Given the description of an element on the screen output the (x, y) to click on. 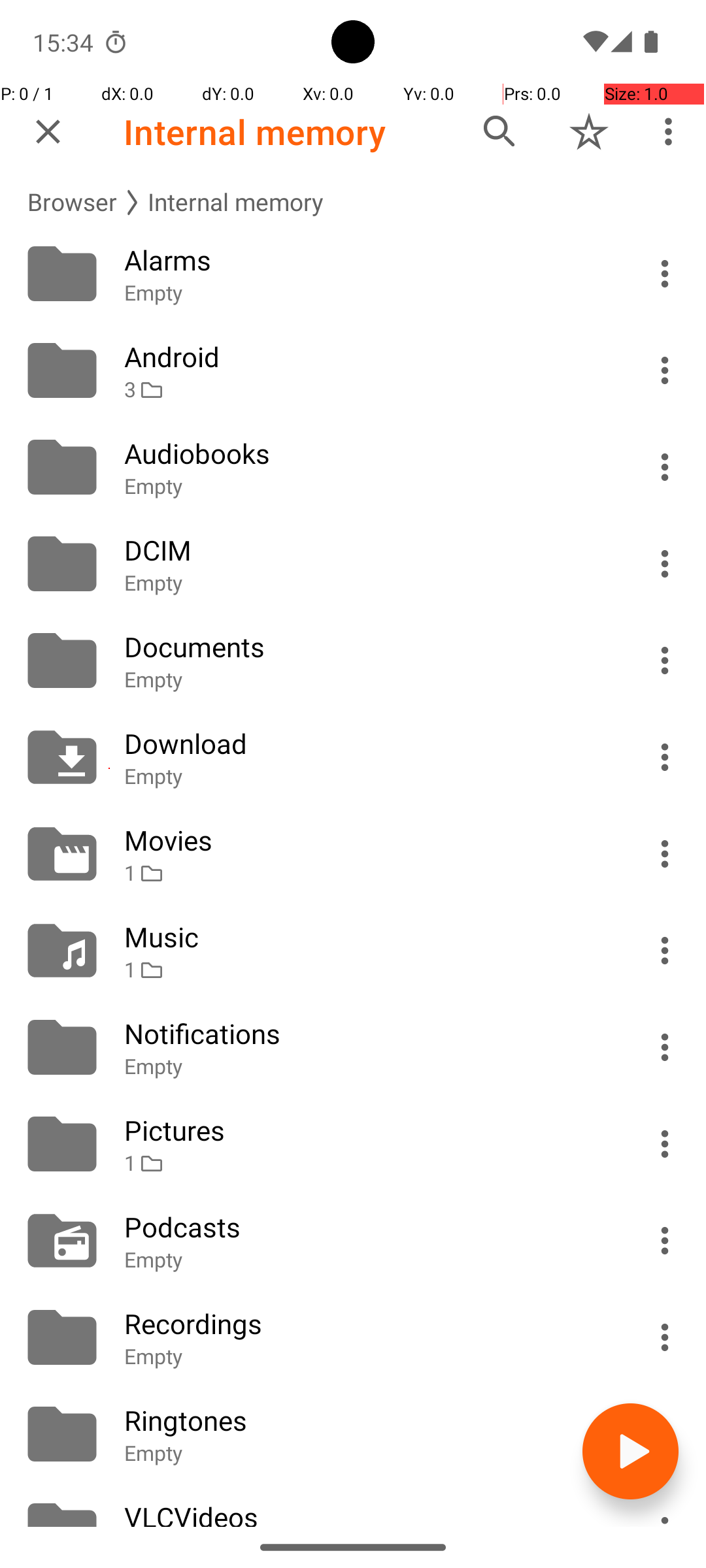
Folder: Alarms, Empty Element type: android.view.ViewGroup (353, 273)
Folder: Android, 3 subfolders Element type: android.view.ViewGroup (353, 370)
Folder: Audiobooks, Empty Element type: android.view.ViewGroup (353, 466)
Folder: DCIM, Empty Element type: android.view.ViewGroup (353, 563)
Folder: Documents, Empty Element type: android.view.ViewGroup (353, 660)
Folder: Download, Empty Element type: android.view.ViewGroup (353, 756)
Folder: Movies, 1 subfolder Element type: android.view.ViewGroup (353, 853)
Folder: Music, 1 subfolder Element type: android.view.ViewGroup (353, 950)
Folder: Notifications, Empty Element type: android.view.ViewGroup (353, 1046)
Folder: Pictures, 1 subfolder Element type: android.view.ViewGroup (353, 1143)
Folder: Podcasts, Empty Element type: android.view.ViewGroup (353, 1240)
Folder: Recordings, Empty Element type: android.view.ViewGroup (353, 1337)
Folder: Ringtones, Empty Element type: android.view.ViewGroup (353, 1433)
Folder: VLCVideos, 10 media files Element type: android.view.ViewGroup (353, 1504)
Alarms Element type: android.widget.TextView (366, 259)
Android Element type: android.widget.TextView (366, 356)
3 §*§ Element type: android.widget.TextView (366, 389)
Audiobooks Element type: android.widget.TextView (366, 452)
Recordings Element type: android.widget.TextView (366, 1322)
Ringtones Element type: android.widget.TextView (366, 1419)
